Given the description of an element on the screen output the (x, y) to click on. 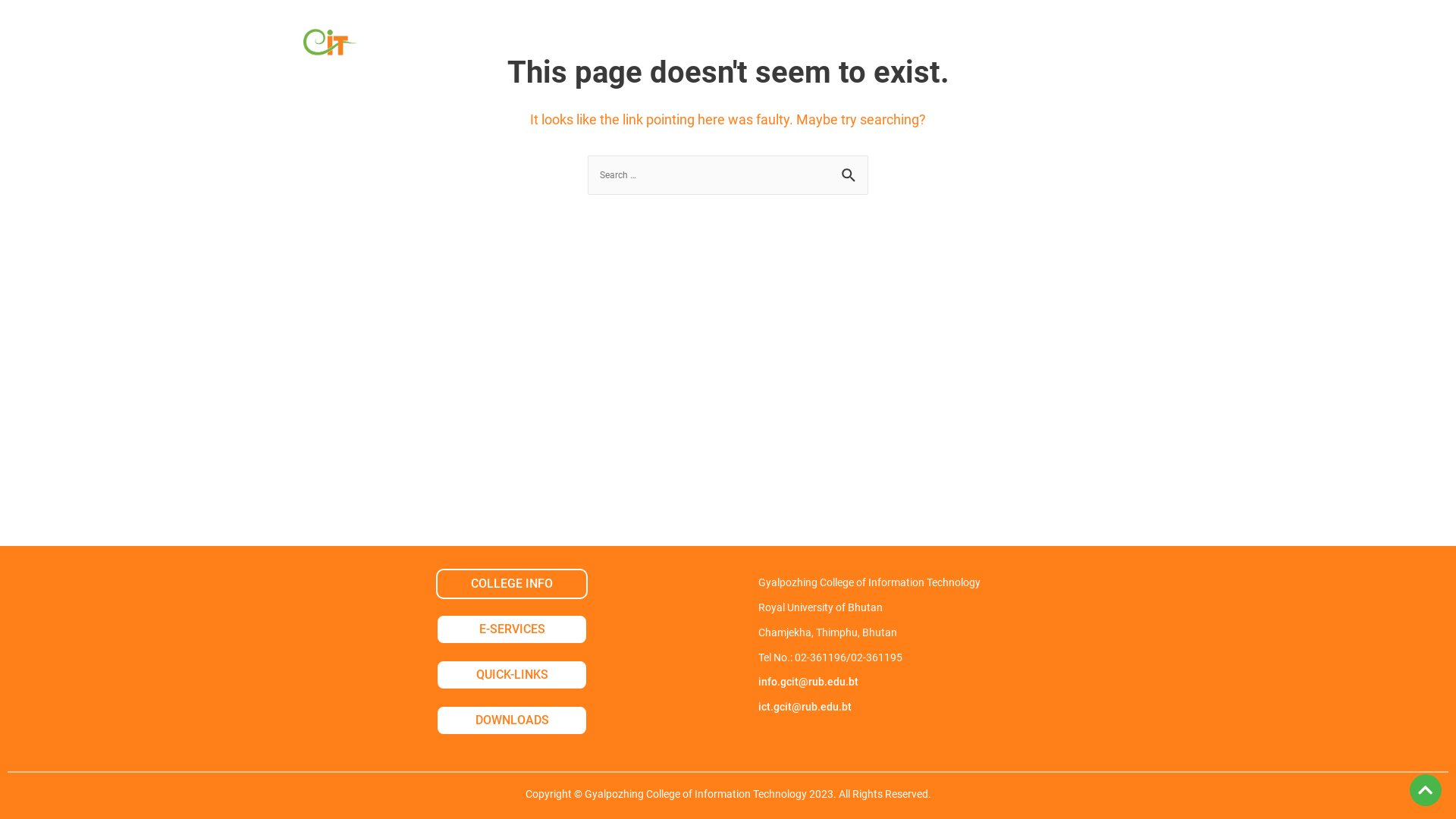
Student Services Element type: text (783, 45)
Announcement Element type: text (927, 45)
ict.gcit@rub.edu.bt Element type: text (804, 706)
COLLEGE INFO Element type: text (511, 583)
QUICK-LINKS Element type: text (511, 674)
E-SERVICES Element type: text (511, 629)
Search Element type: text (851, 172)
DOWNLOADS Element type: text (511, 720)
Contact Element type: text (1044, 45)
About Element type: text (423, 45)
Academic Element type: text (519, 45)
info.gcit@rub.edu.bt Element type: text (808, 681)
Non Academic Element type: text (641, 45)
